Given the description of an element on the screen output the (x, y) to click on. 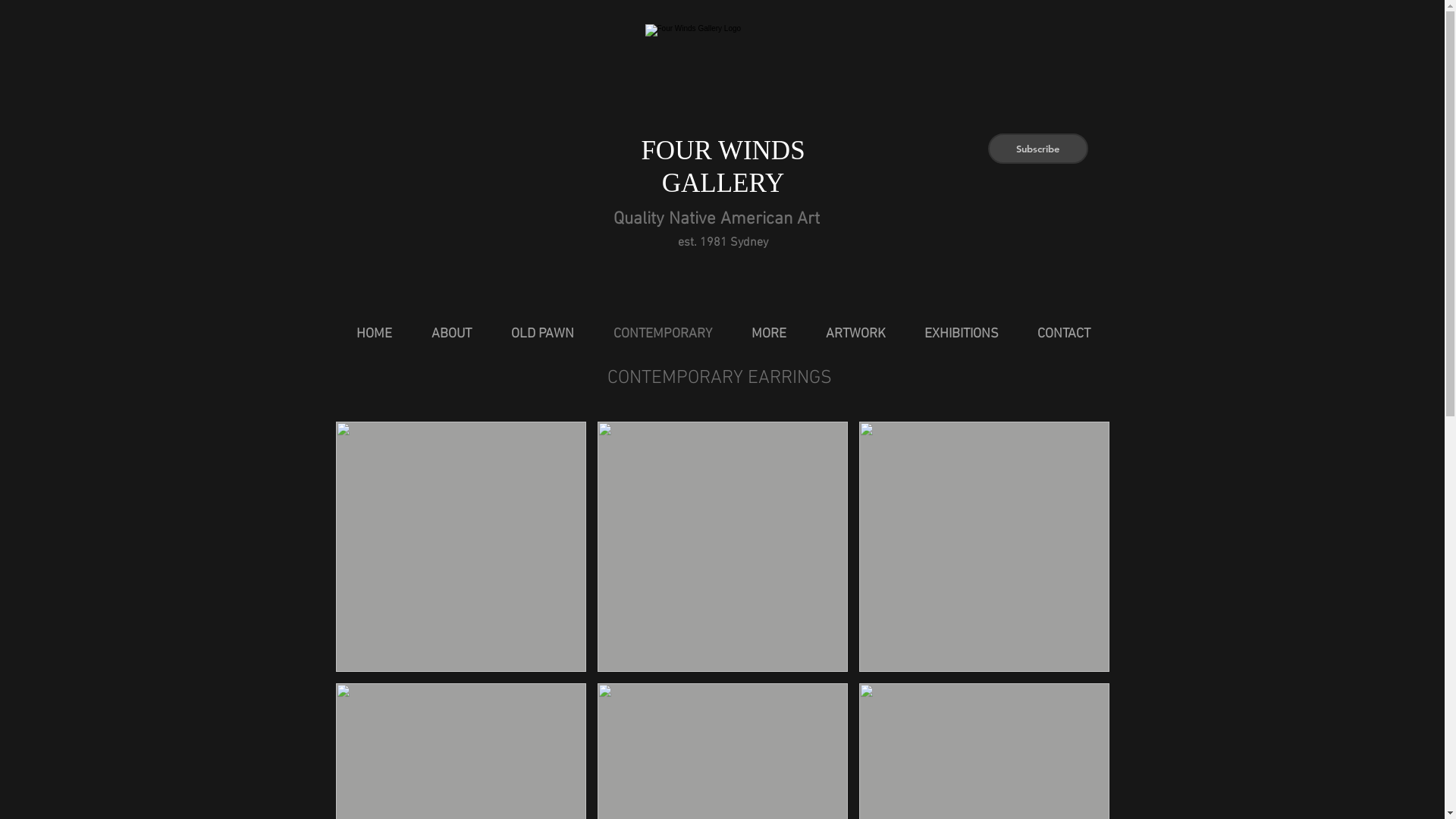
MORE Element type: text (769, 334)
CONTEMPORARY Element type: text (662, 334)
Subscribe Element type: text (1037, 148)
ABOUT Element type: text (451, 334)
EXHIBITIONS Element type: text (961, 334)
ARTWORK Element type: text (855, 334)
CONTACT Element type: text (1062, 334)
OLD PAWN Element type: text (542, 334)
HOME Element type: text (373, 334)
